Given the description of an element on the screen output the (x, y) to click on. 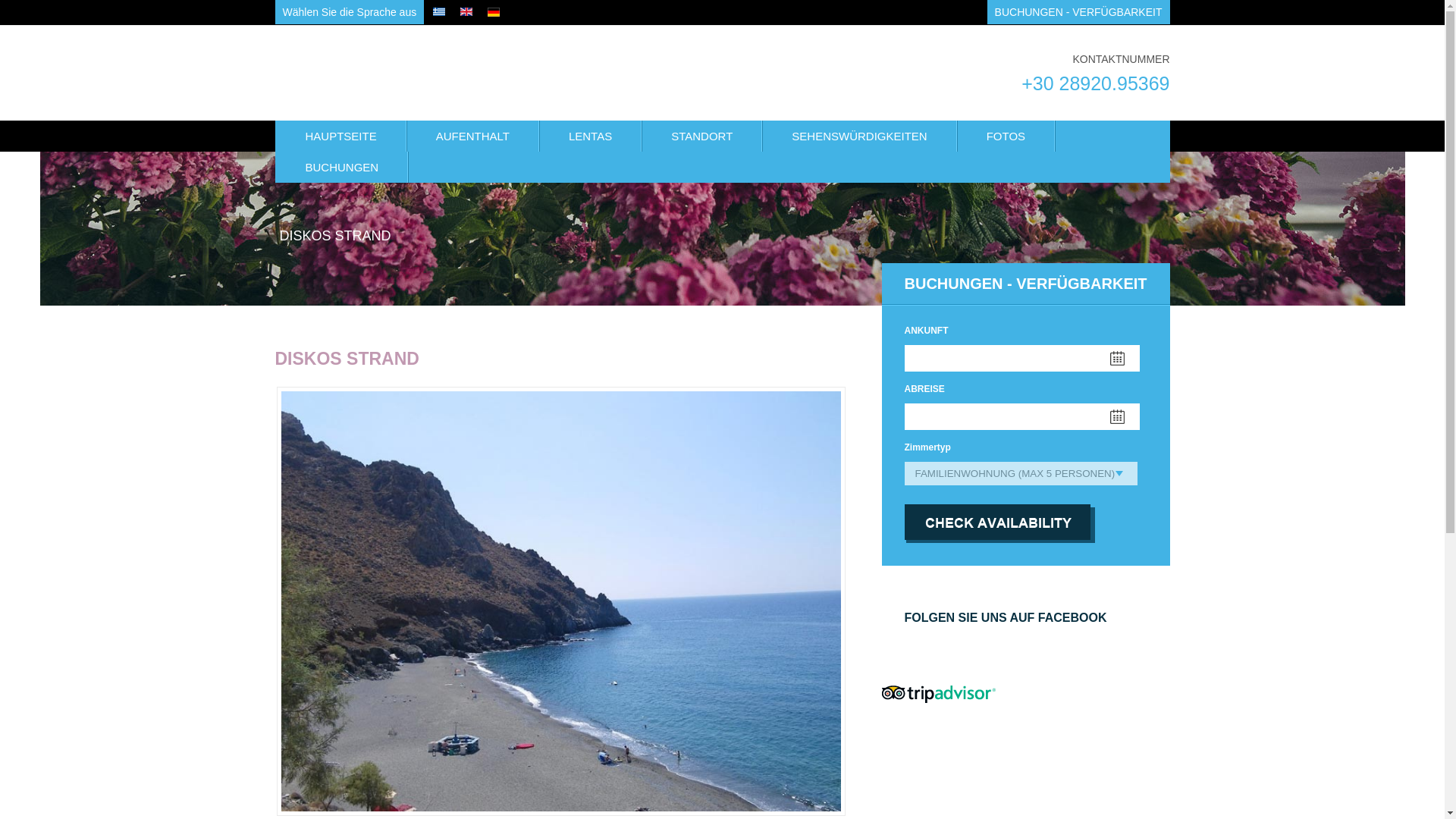
FOTOS (1005, 135)
HAUPTSEITE (340, 135)
STANDORT (701, 135)
LENTAS (590, 135)
AUFENTHALT (473, 135)
BUCHUNGEN (342, 166)
